Given the description of an element on the screen output the (x, y) to click on. 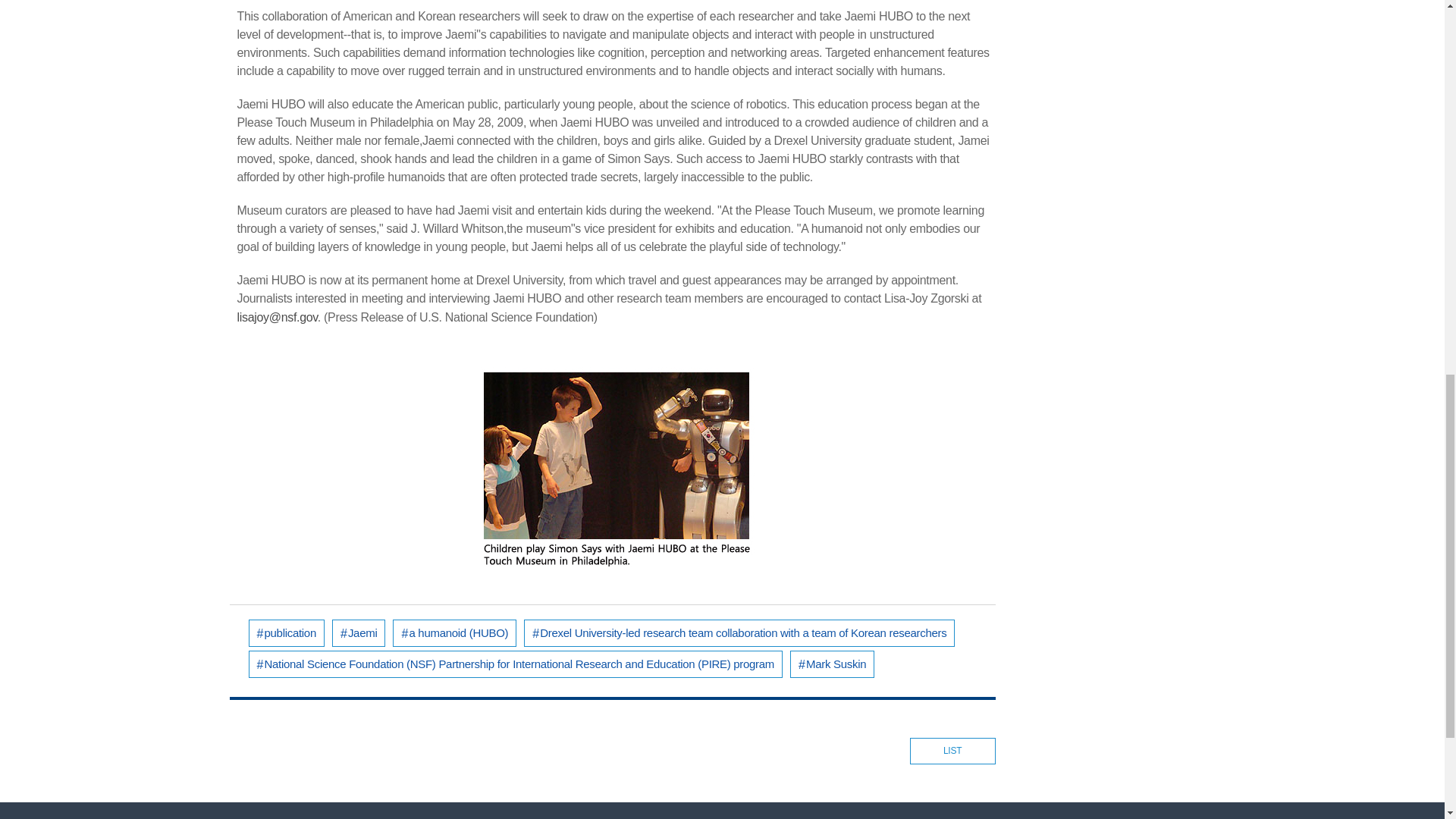
Jaemi (358, 633)
Mark Suskin (832, 664)
publication (286, 633)
LIST (952, 750)
